Given the description of an element on the screen output the (x, y) to click on. 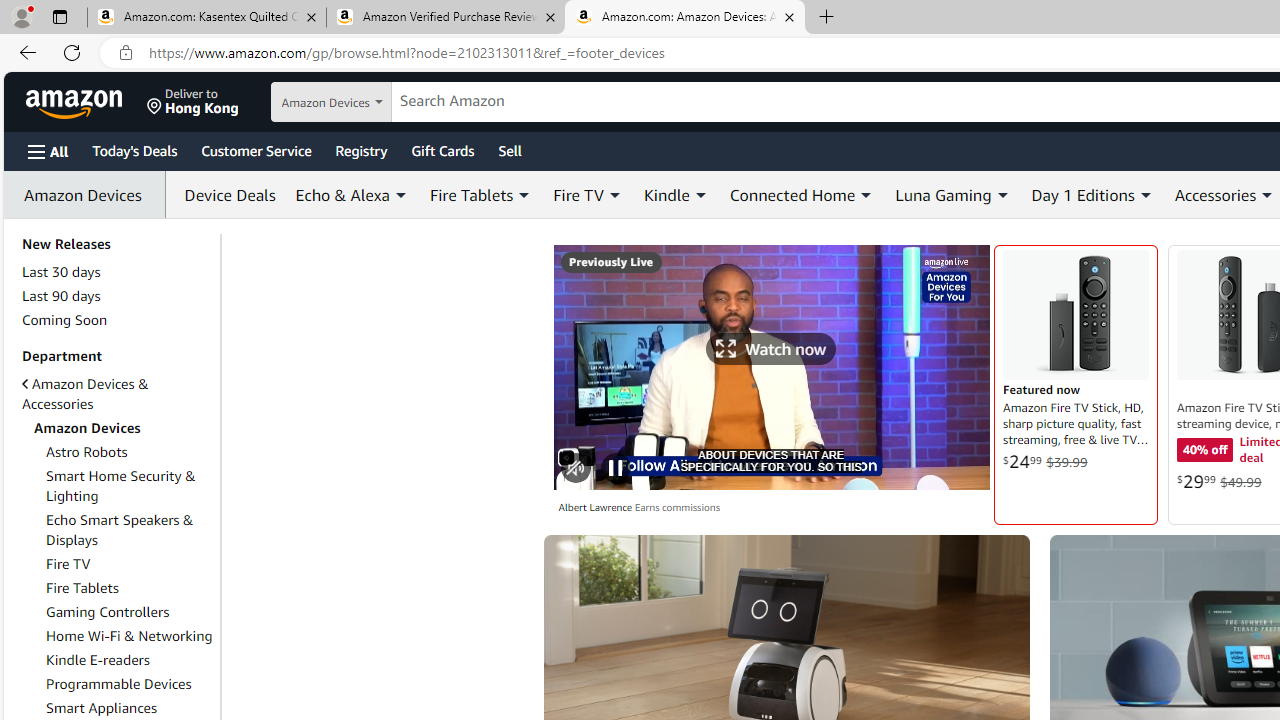
Connected Home (802, 194)
Smart Home Security & Lighting (120, 485)
Amazon Devices (87, 195)
Expand Connected Home (866, 195)
Amazon Devices & Accessories (84, 394)
Earns commissions (676, 507)
Smart Appliances (129, 707)
Smart Home Security & Lighting (129, 485)
Fire TV (129, 563)
Expand Day 1 Editions (1145, 195)
Echo Smart Speakers & Displays (129, 529)
Fire Tablets (82, 587)
